Given the description of an element on the screen output the (x, y) to click on. 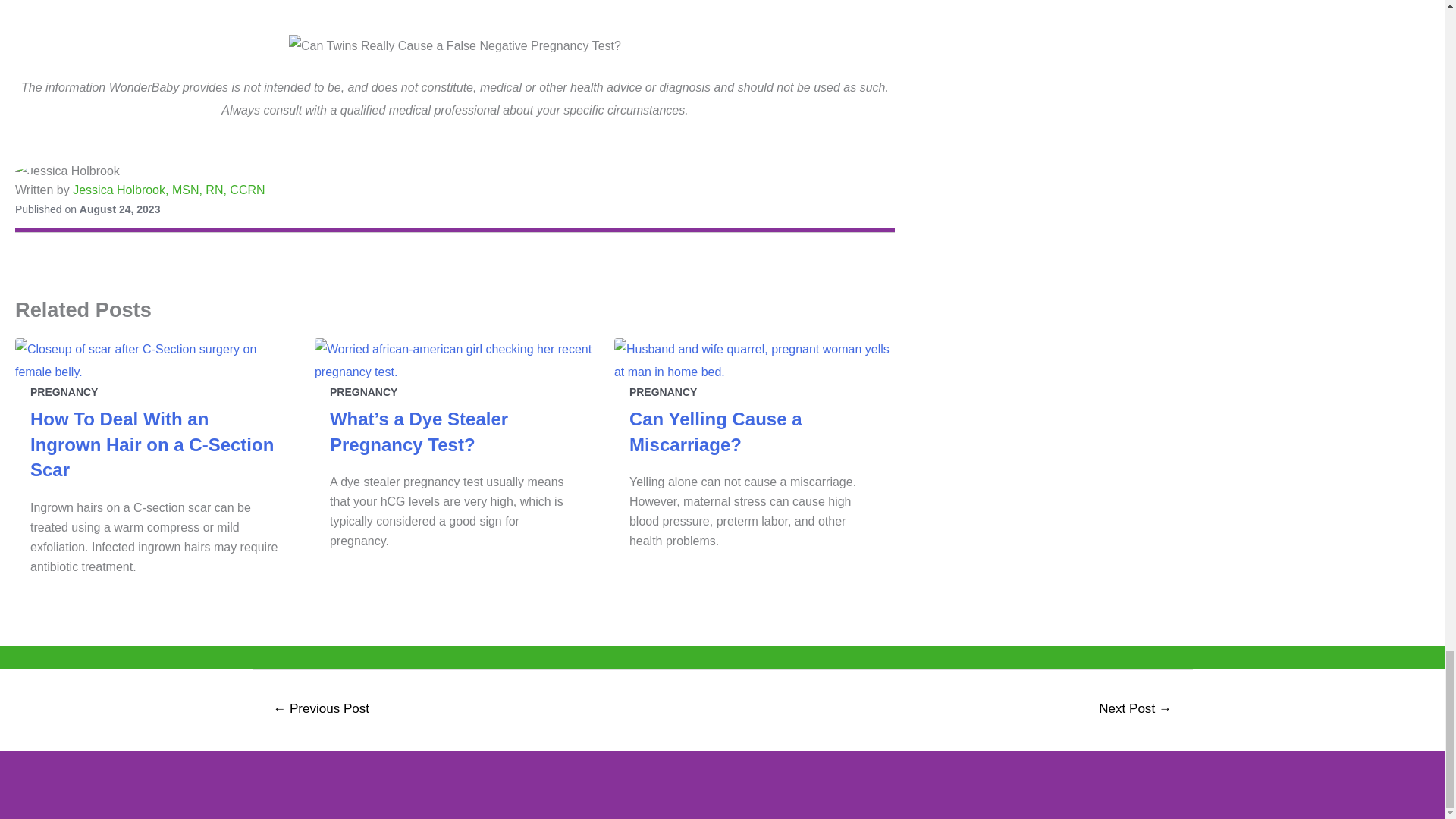
jessica-holbrook-2 (454, 170)
